Given the description of an element on the screen output the (x, y) to click on. 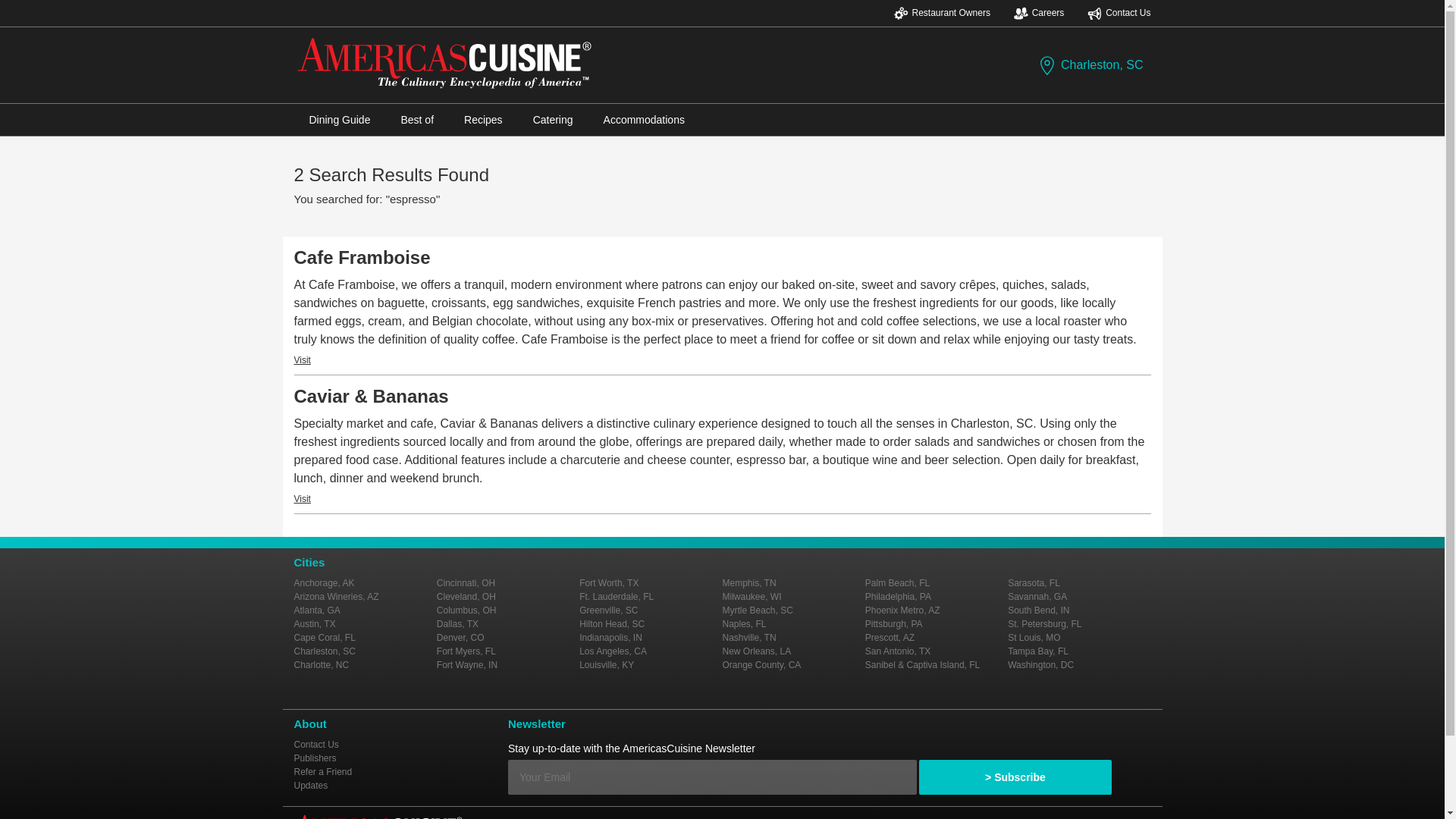
Columbus, OH (466, 610)
Charleston, SC (1089, 64)
Memphis, TN (749, 583)
Careers (1038, 12)
Best of (416, 119)
Cincinnati, OH (465, 583)
Louisville, KY (606, 665)
Arizona Wineries, AZ (336, 596)
Visit (302, 359)
Hilton Head, SC (612, 624)
Catering (553, 119)
Fort Wayne, IN (466, 665)
Myrtle Beach, SC (757, 610)
Indianapolis, IN (610, 637)
Cleveland, OH (466, 596)
